Given the description of an element on the screen output the (x, y) to click on. 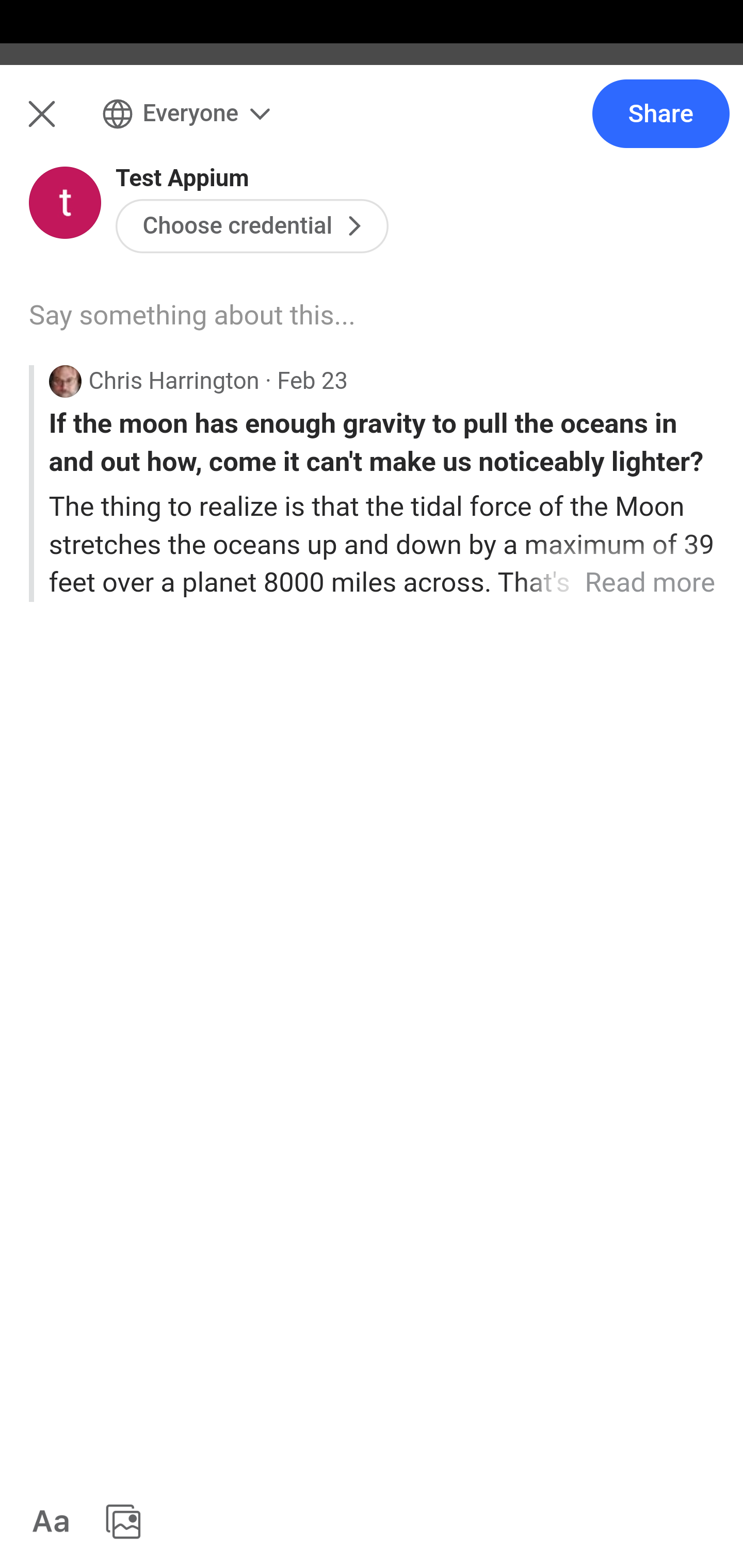
Me Following Search Add (371, 125)
Me (64, 125)
